Given the description of an element on the screen output the (x, y) to click on. 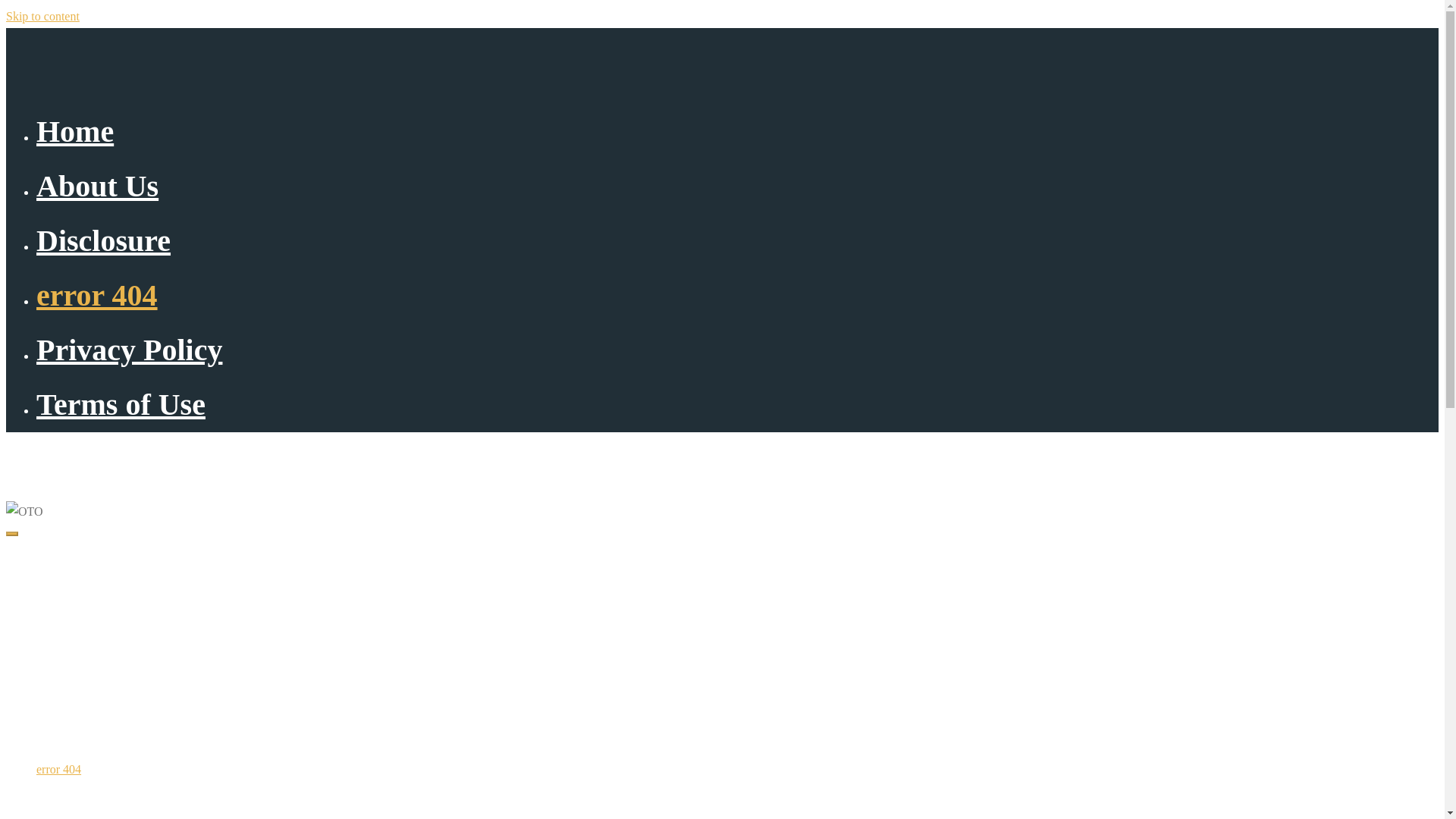
Privacy Policy (129, 349)
Home (74, 131)
Terms of Use (120, 404)
OTO (22, 457)
Skip to content (42, 15)
error 404 (58, 768)
About Us (59, 655)
About Us (97, 185)
error 404 (96, 295)
Skip to content (42, 15)
Disclosure (103, 240)
Home (50, 598)
Disclosure (61, 712)
